Given the description of an element on the screen output the (x, y) to click on. 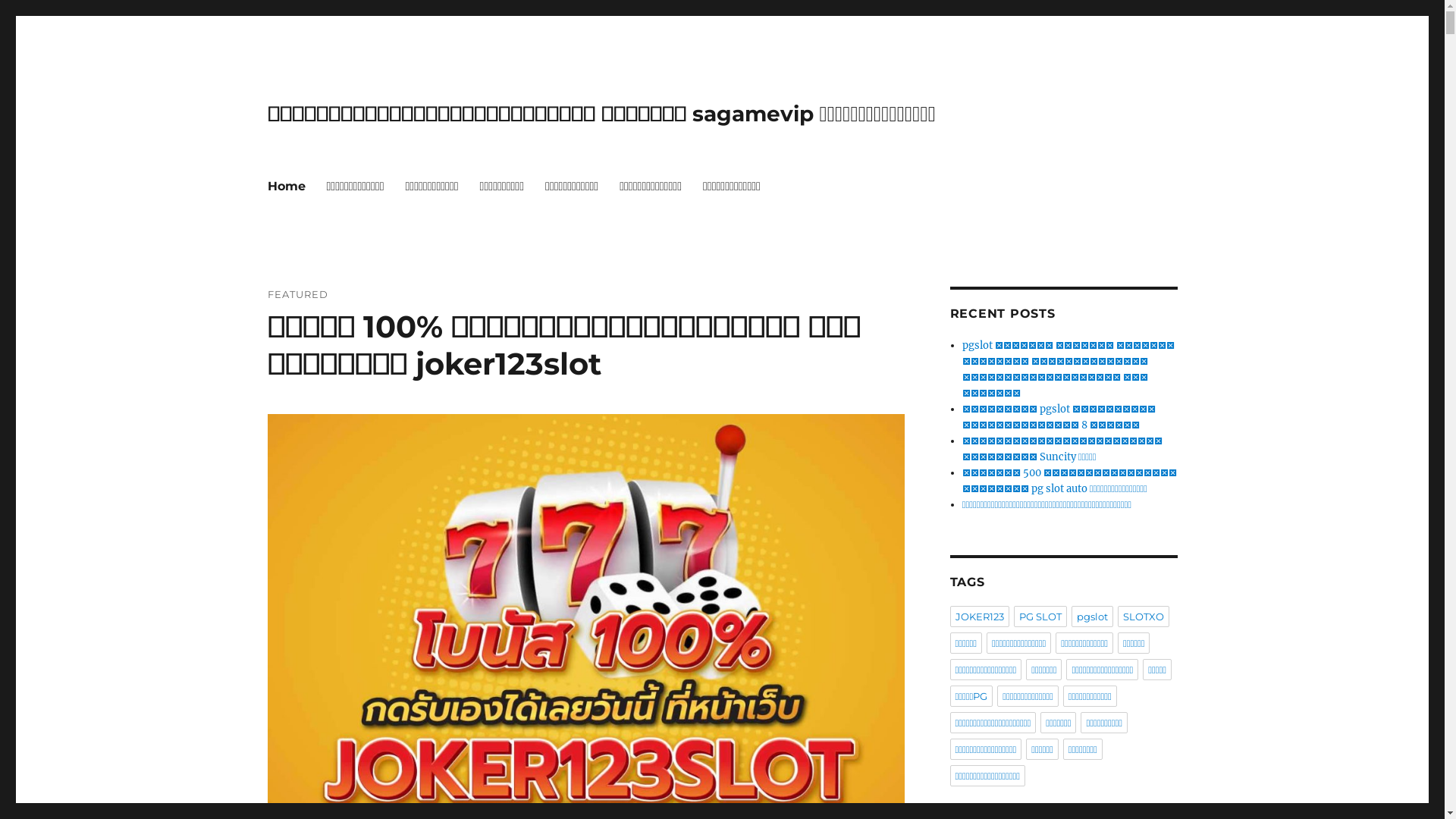
pgslot Element type: text (1091, 616)
PG SLOT Element type: text (1039, 616)
JOKER123 Element type: text (978, 616)
SLOTXO Element type: text (1143, 616)
Home Element type: text (285, 185)
